Given the description of an element on the screen output the (x, y) to click on. 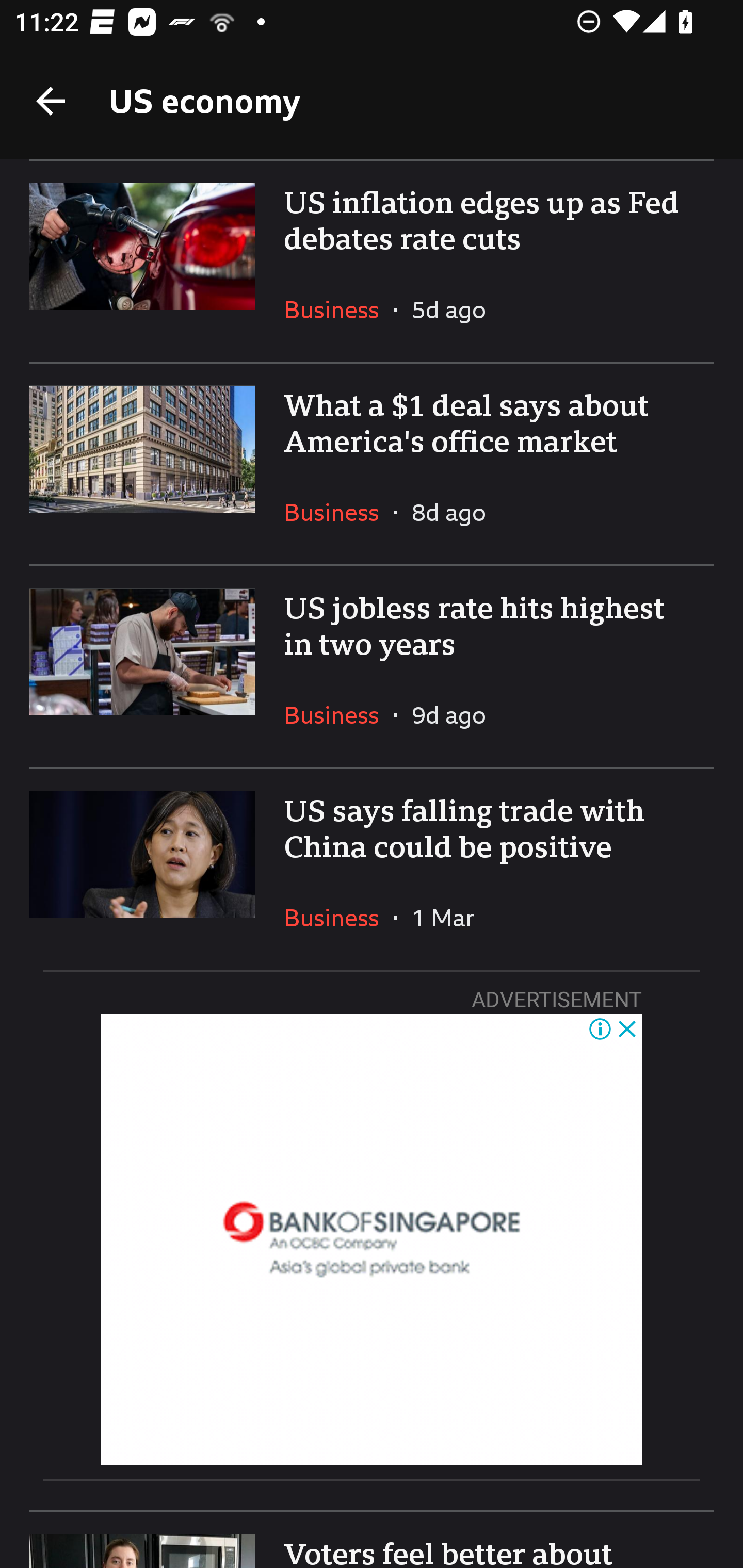
Back (50, 101)
Business In the section Business (338, 309)
Business In the section Business (338, 511)
Business In the section Business (338, 714)
Business In the section Business (338, 917)
Advertisement (371, 1239)
